Given the description of an element on the screen output the (x, y) to click on. 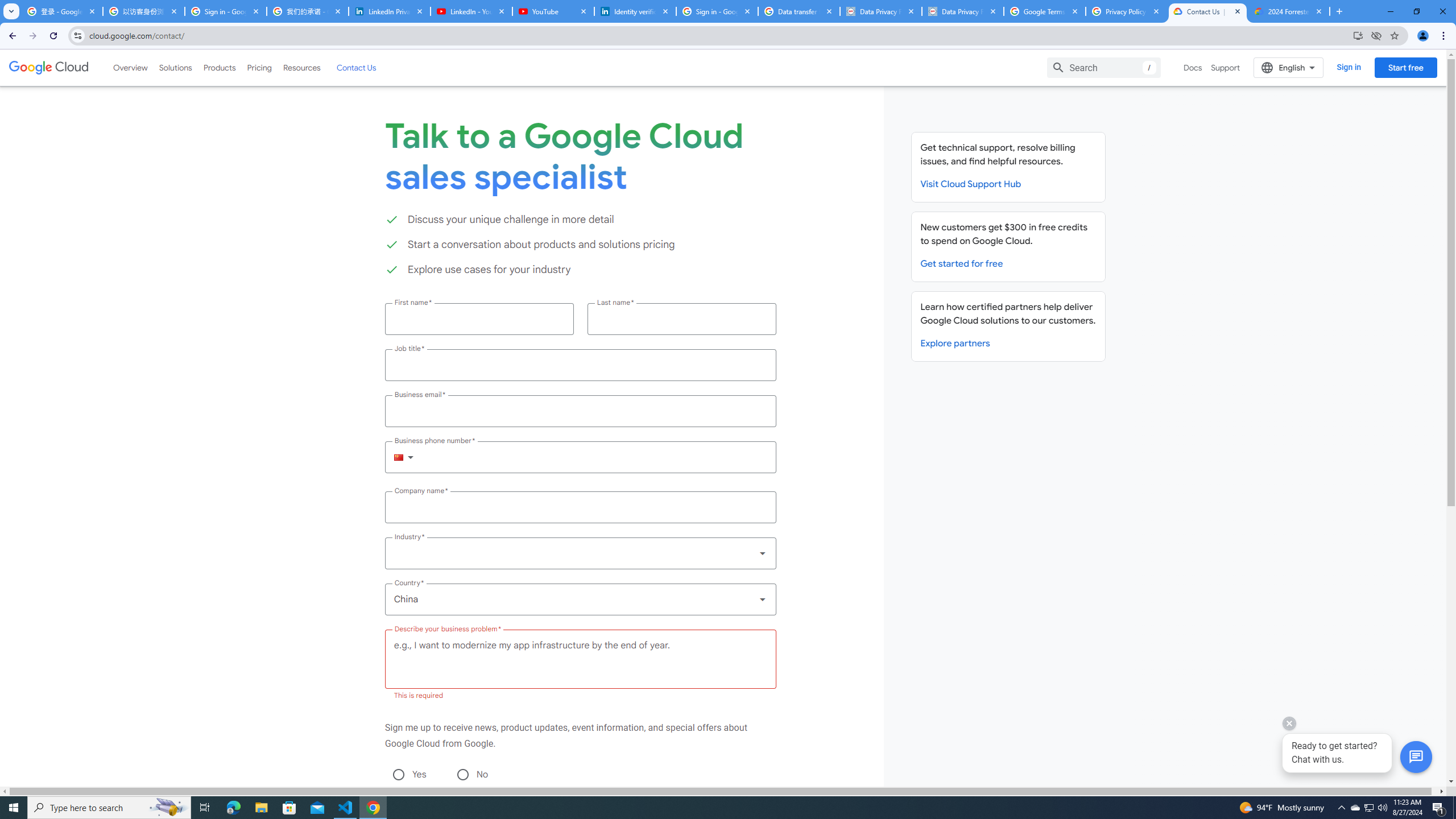
Google Cloud (48, 67)
LinkedIn Privacy Policy (389, 11)
